Given the description of an element on the screen output the (x, y) to click on. 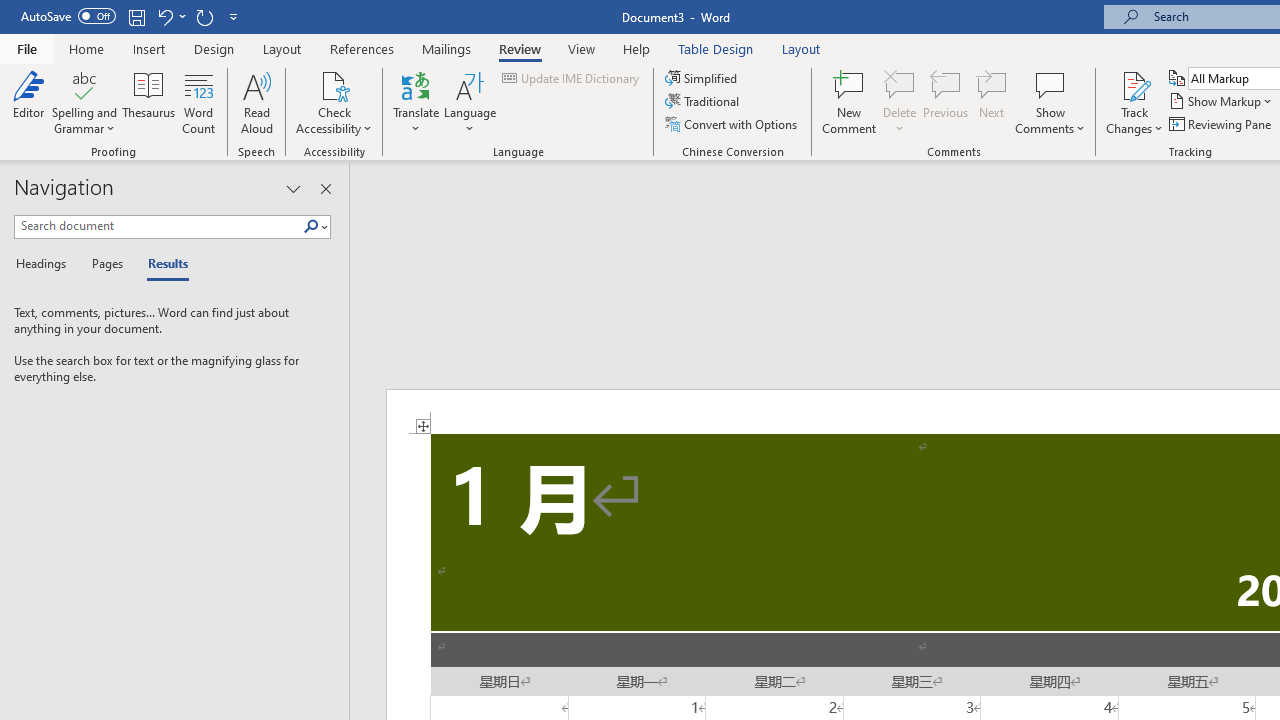
Traditional (703, 101)
Delete (900, 84)
Show Markup (1222, 101)
Track Changes (1134, 84)
Next (991, 102)
